Given the description of an element on the screen output the (x, y) to click on. 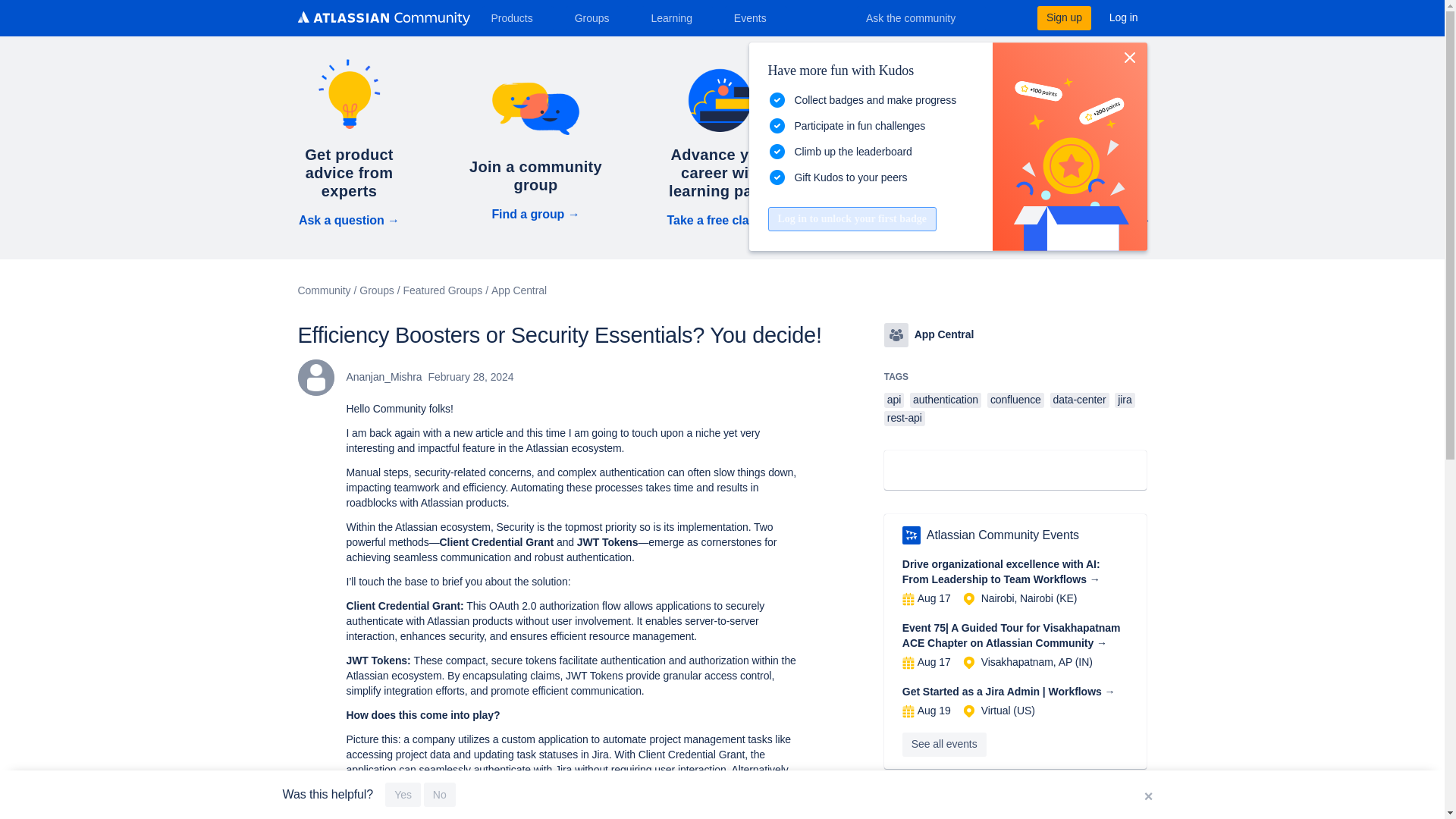
Atlassian Community logo (382, 19)
Events (756, 17)
Ask the community  (921, 17)
Atlassian Community logo (382, 18)
Learning (676, 17)
AUG Leaders (911, 535)
groups-icon (895, 334)
Log in (1123, 17)
Sign up (1063, 17)
Groups (598, 17)
